Given the description of an element on the screen output the (x, y) to click on. 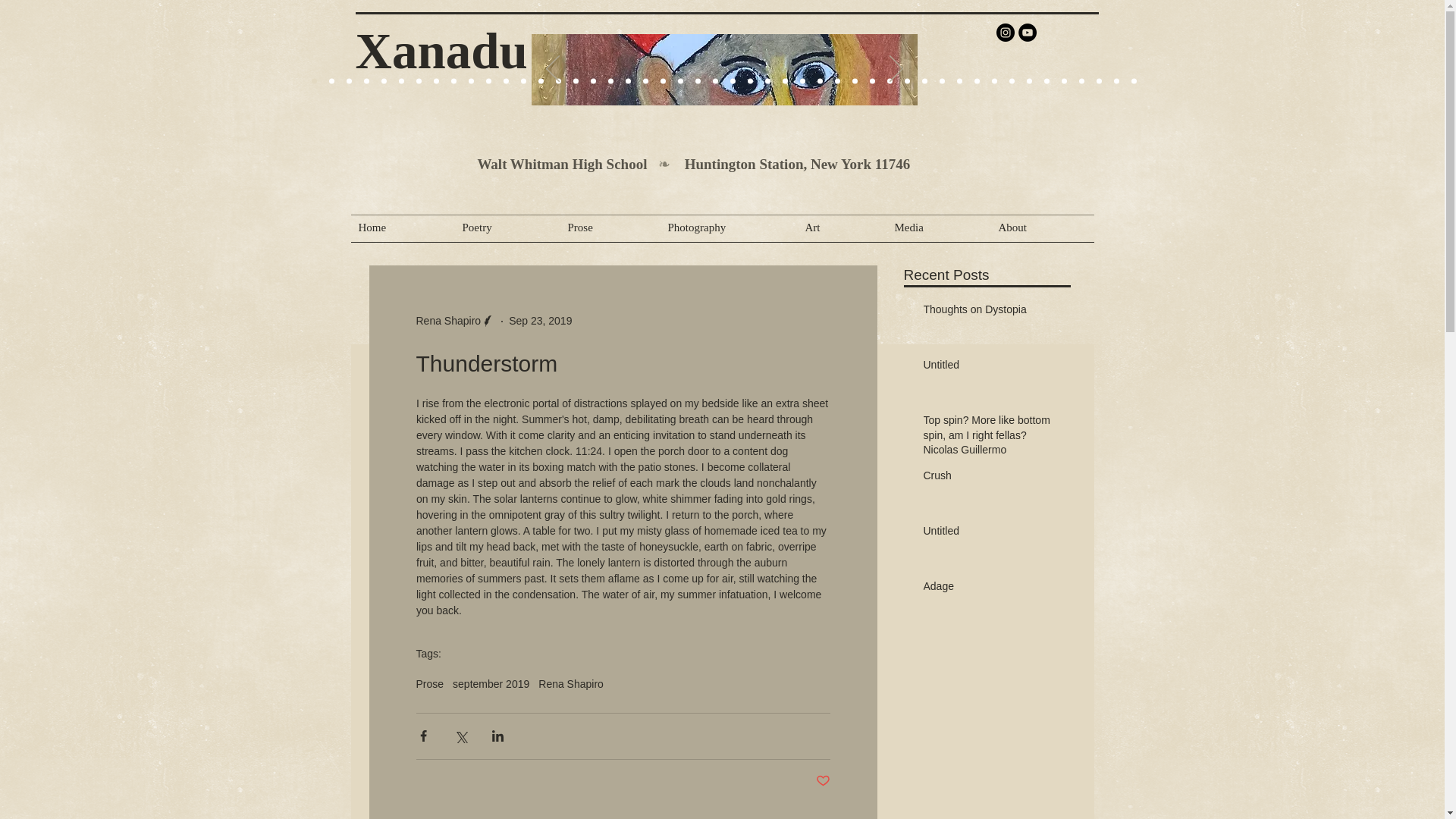
Sep 23, 2019 (540, 320)
Rena Shapiro (447, 320)
Xanadu (441, 50)
